Given the description of an element on the screen output the (x, y) to click on. 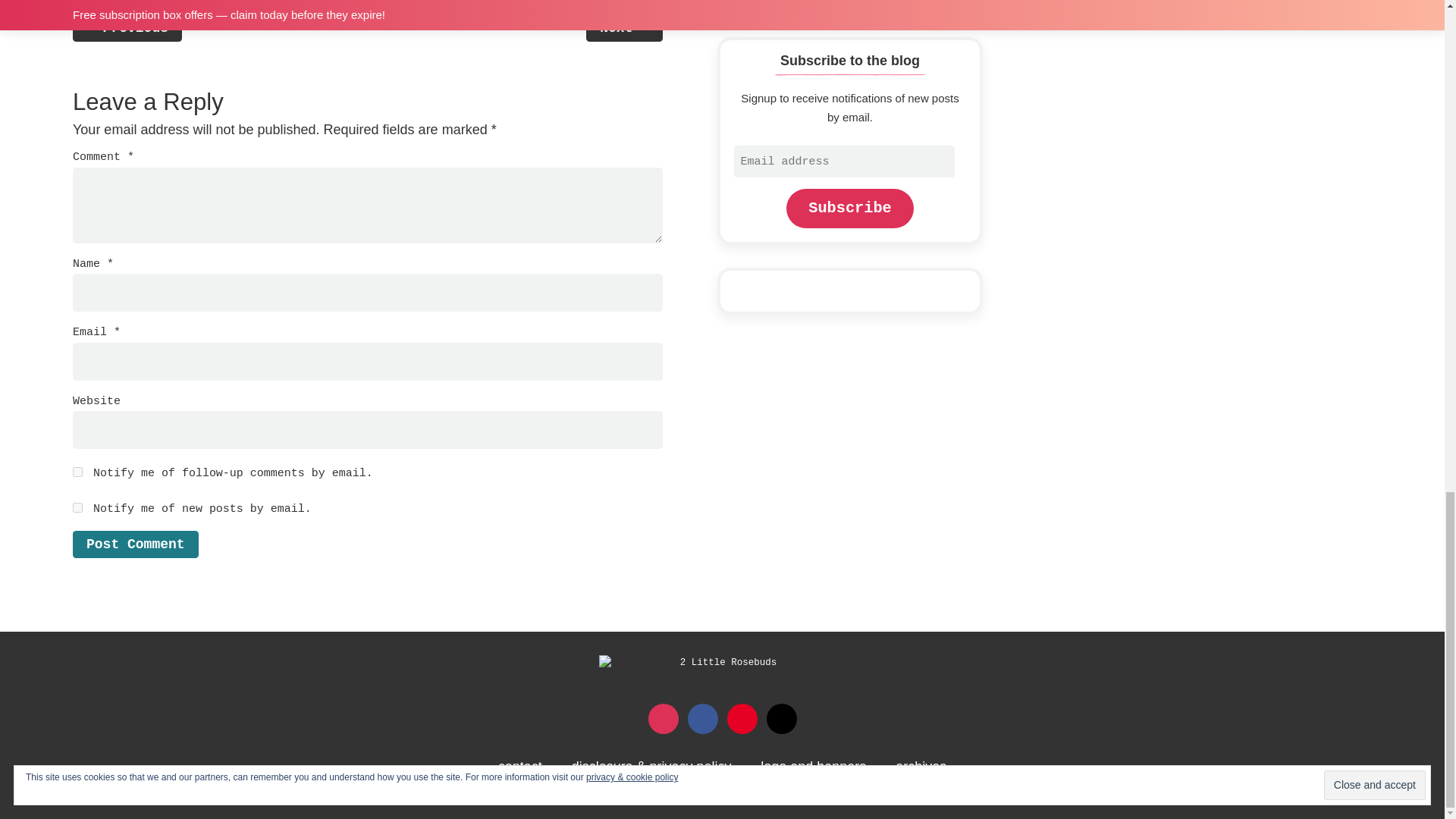
subscribe (77, 507)
subscribe (77, 471)
Post Comment (135, 543)
